Given the description of an element on the screen output the (x, y) to click on. 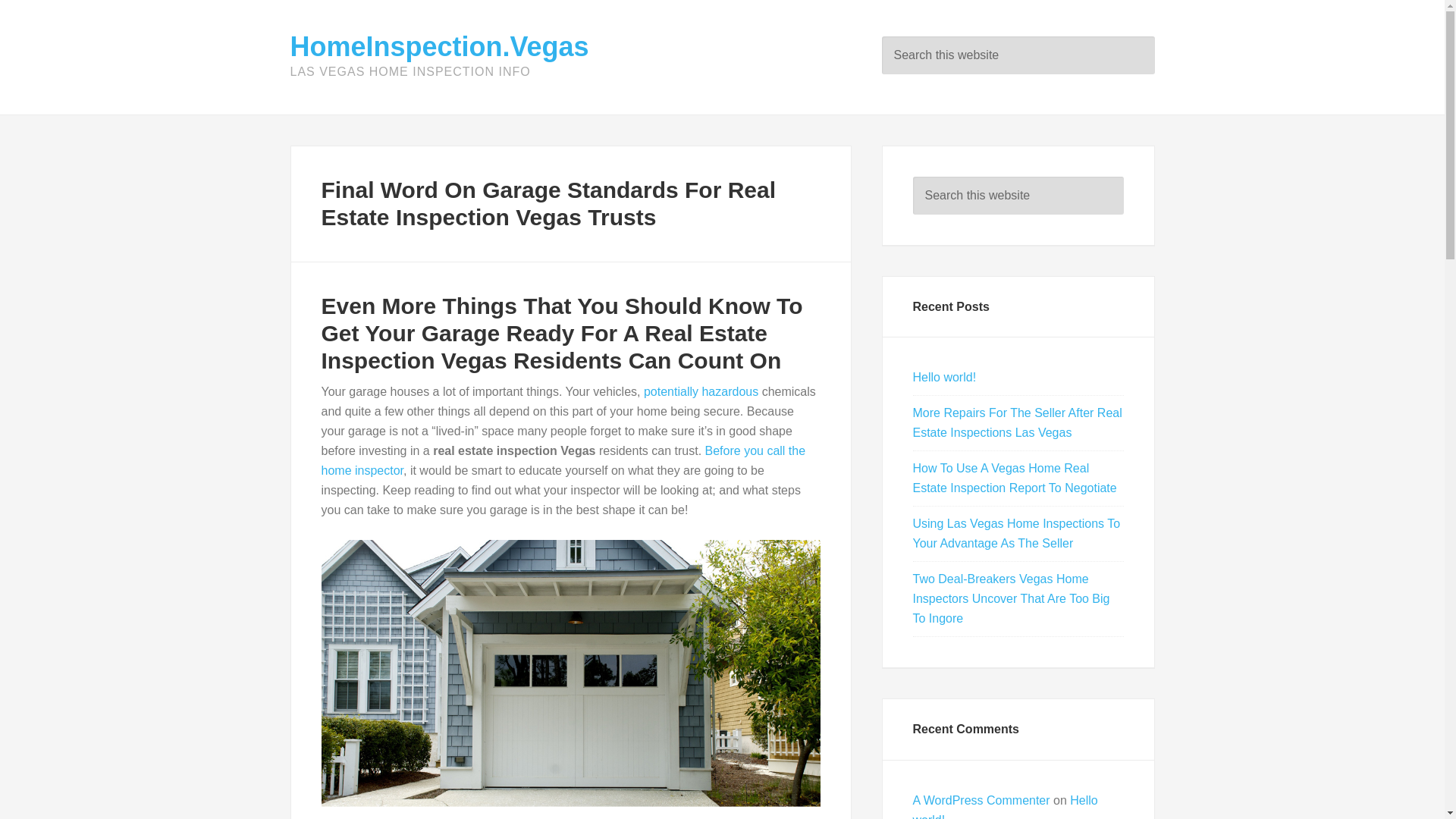
HomeInspection.Vegas (438, 46)
Hello world! (944, 377)
potentially hazardous (700, 391)
